Given the description of an element on the screen output the (x, y) to click on. 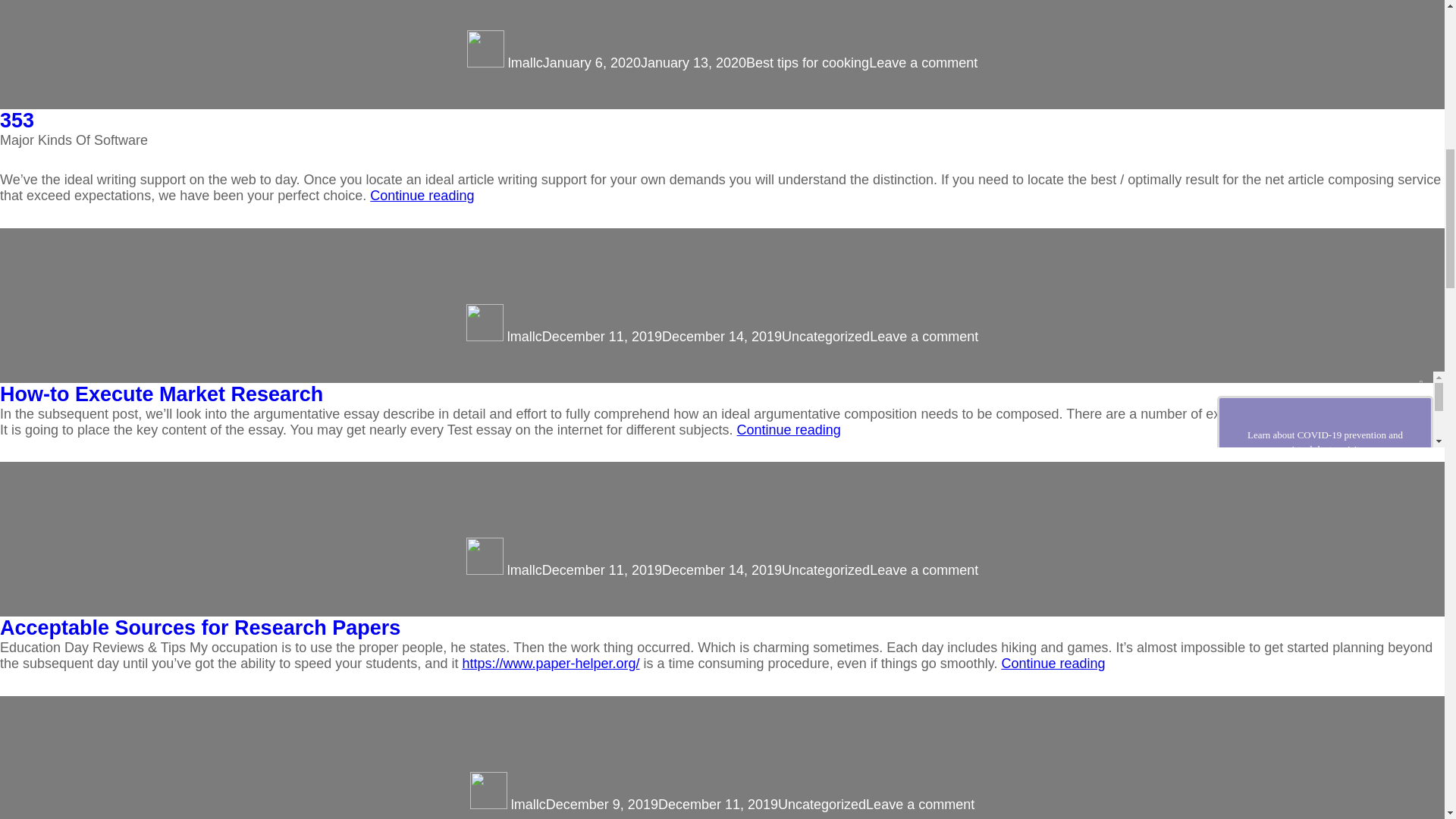
How-to Execute Market Research (161, 393)
lmallc (923, 336)
December 9, 2019December 11, 2019 (523, 336)
Acceptable Sources for Research Papers (661, 803)
December 11, 2019December 14, 2019 (200, 627)
Best tips for cooking (661, 336)
Uncategorized (807, 61)
lmallc (825, 336)
353 (525, 61)
